Given the description of an element on the screen output the (x, y) to click on. 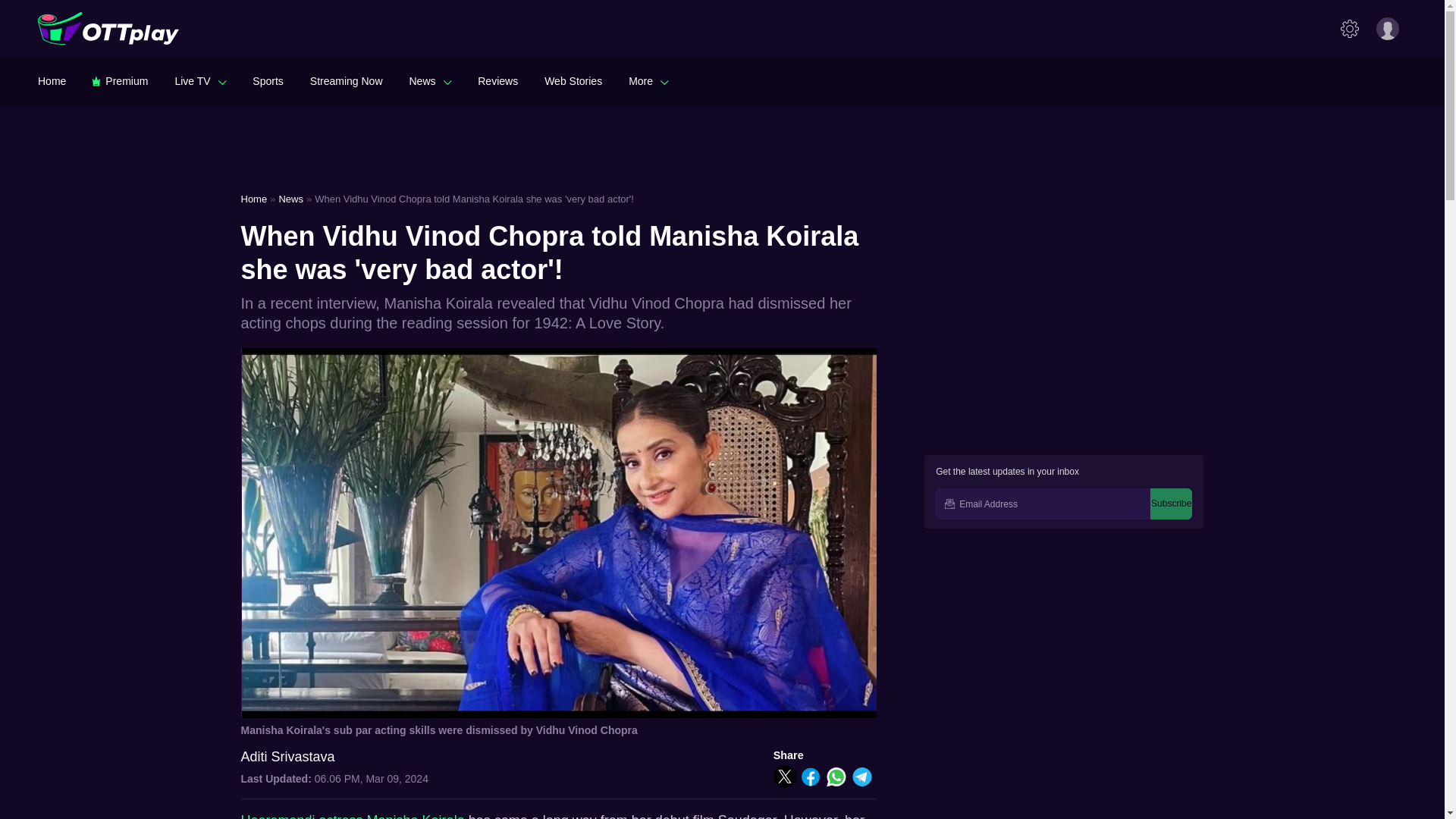
More (648, 80)
Sports (266, 80)
News (430, 80)
Premium (120, 80)
Reviews (497, 80)
Web Stories (573, 80)
Home (51, 80)
Live TV (199, 80)
Streaming Now (346, 80)
